Given the description of an element on the screen output the (x, y) to click on. 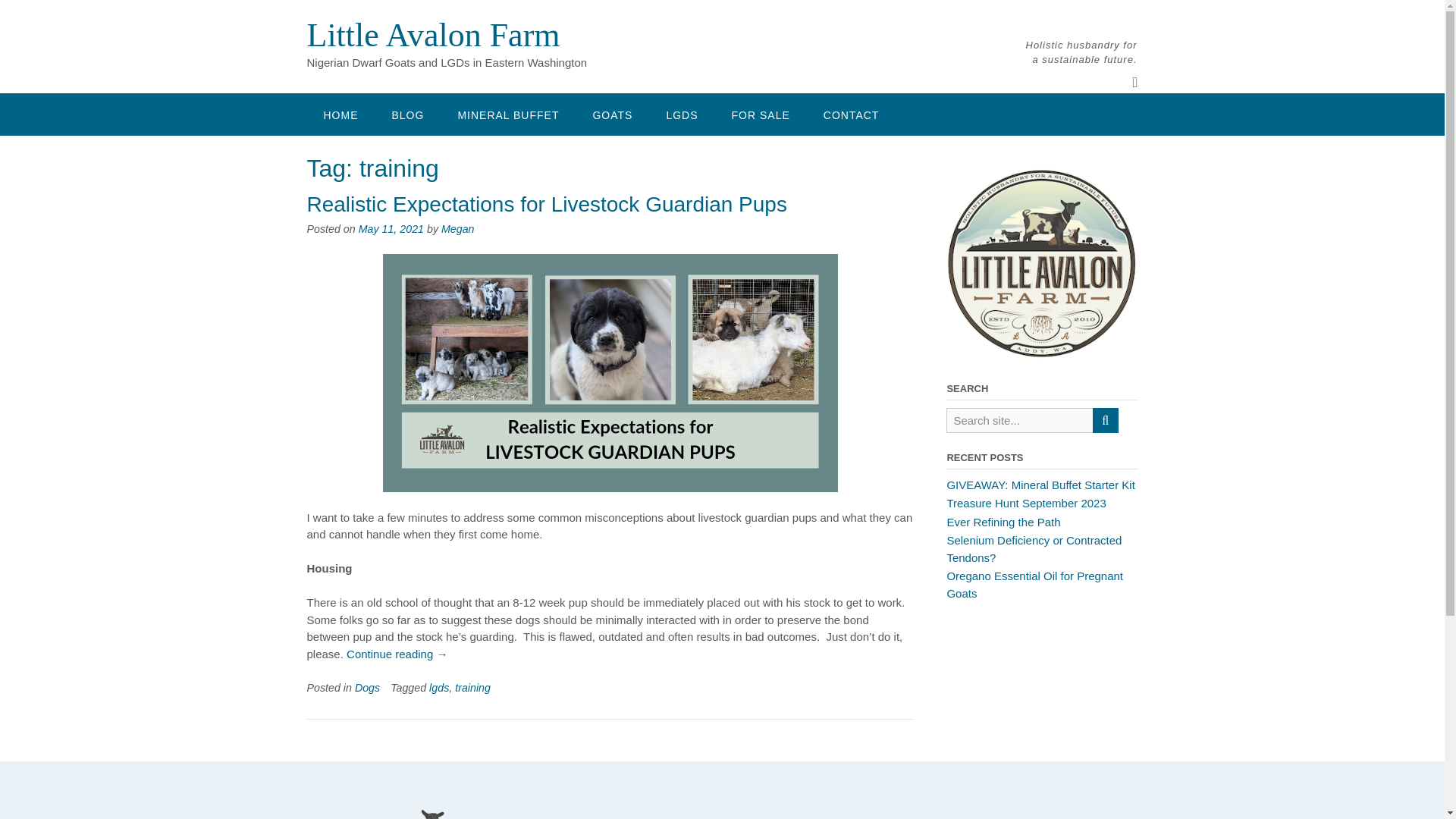
Dogs (367, 687)
FOR SALE (760, 114)
BLOG (407, 114)
HOME (339, 114)
MINERAL BUFFET (508, 114)
Search for: (1019, 420)
Megan (457, 228)
May 11, 2021 (390, 228)
GOATS (612, 114)
Realistic Expectations for Livestock Guardian Pups (545, 204)
